Given the description of an element on the screen output the (x, y) to click on. 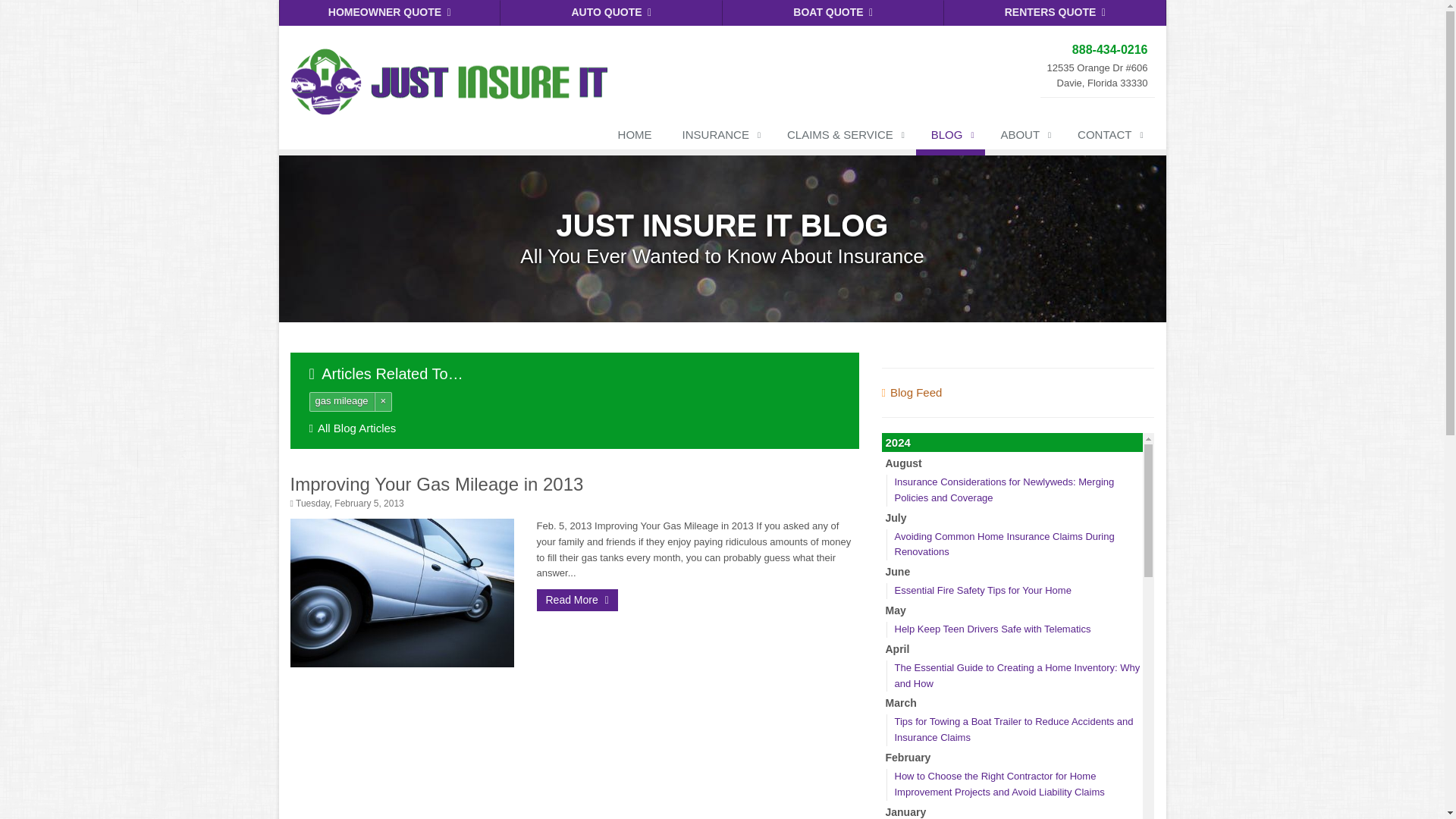
AUTO QUOTE (611, 12)
HOMEOWNER QUOTE (389, 12)
HOME (634, 137)
INSURANCE (718, 137)
